Given the description of an element on the screen output the (x, y) to click on. 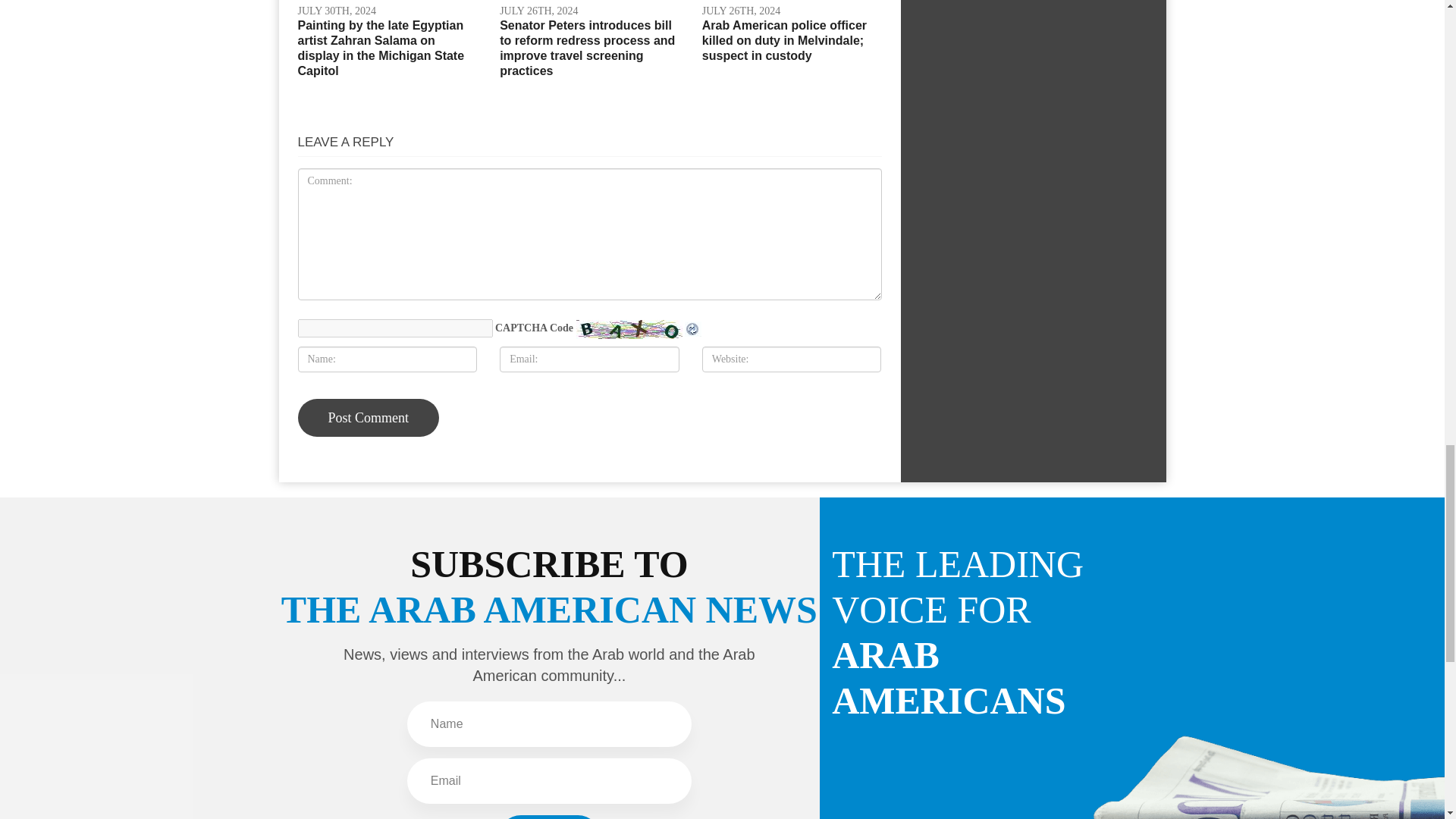
Refresh Image (692, 327)
Submit (548, 816)
Post Comment (368, 417)
